Given the description of an element on the screen output the (x, y) to click on. 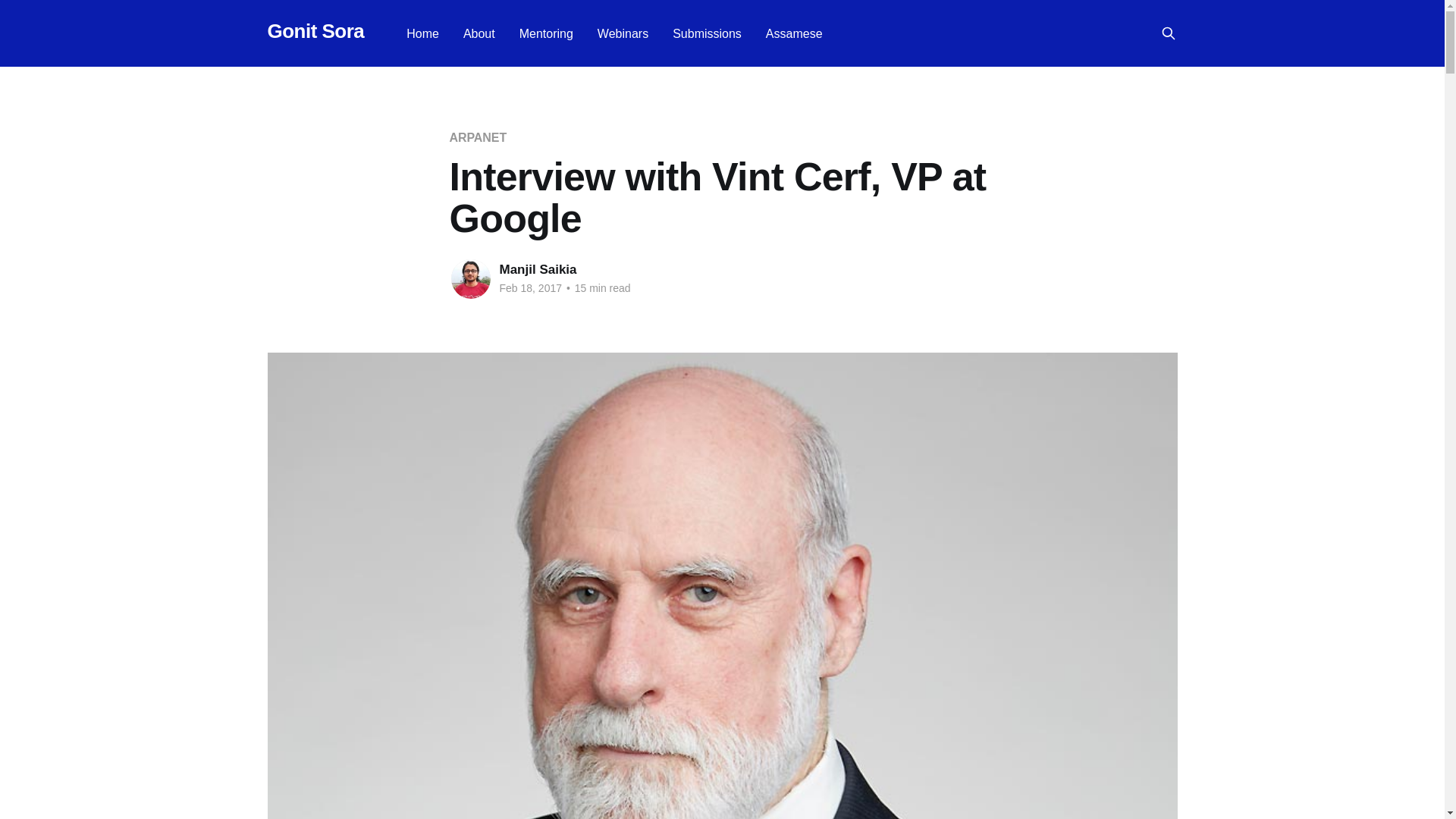
Webinars (621, 33)
Home (422, 33)
Assamese (793, 33)
About (479, 33)
ARPANET (477, 137)
Gonit Sora (315, 31)
Mentoring (546, 33)
Manjil Saikia (537, 269)
Submissions (706, 33)
